Given the description of an element on the screen output the (x, y) to click on. 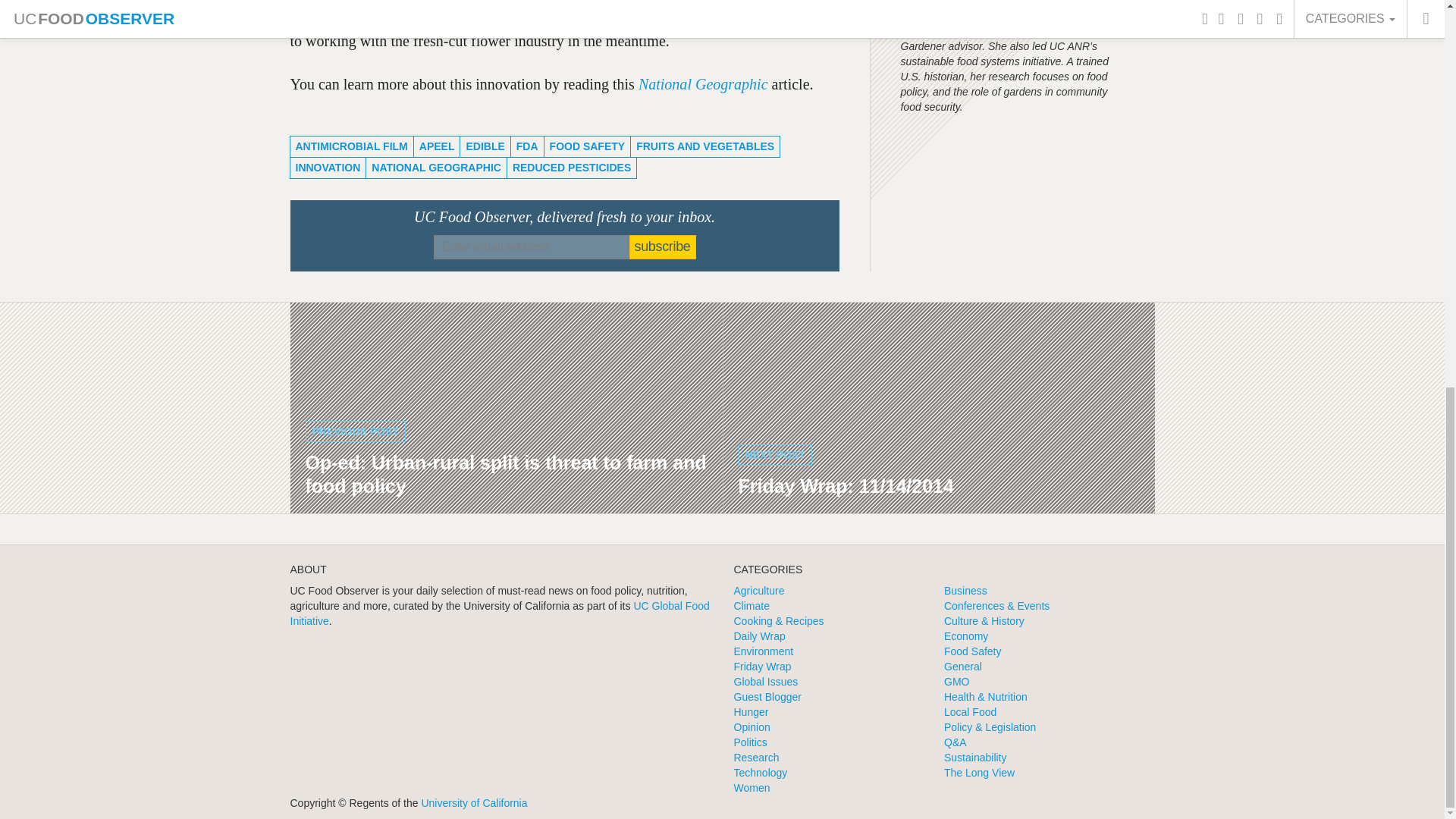
National Geographic edible food film (703, 84)
